Given the description of an element on the screen output the (x, y) to click on. 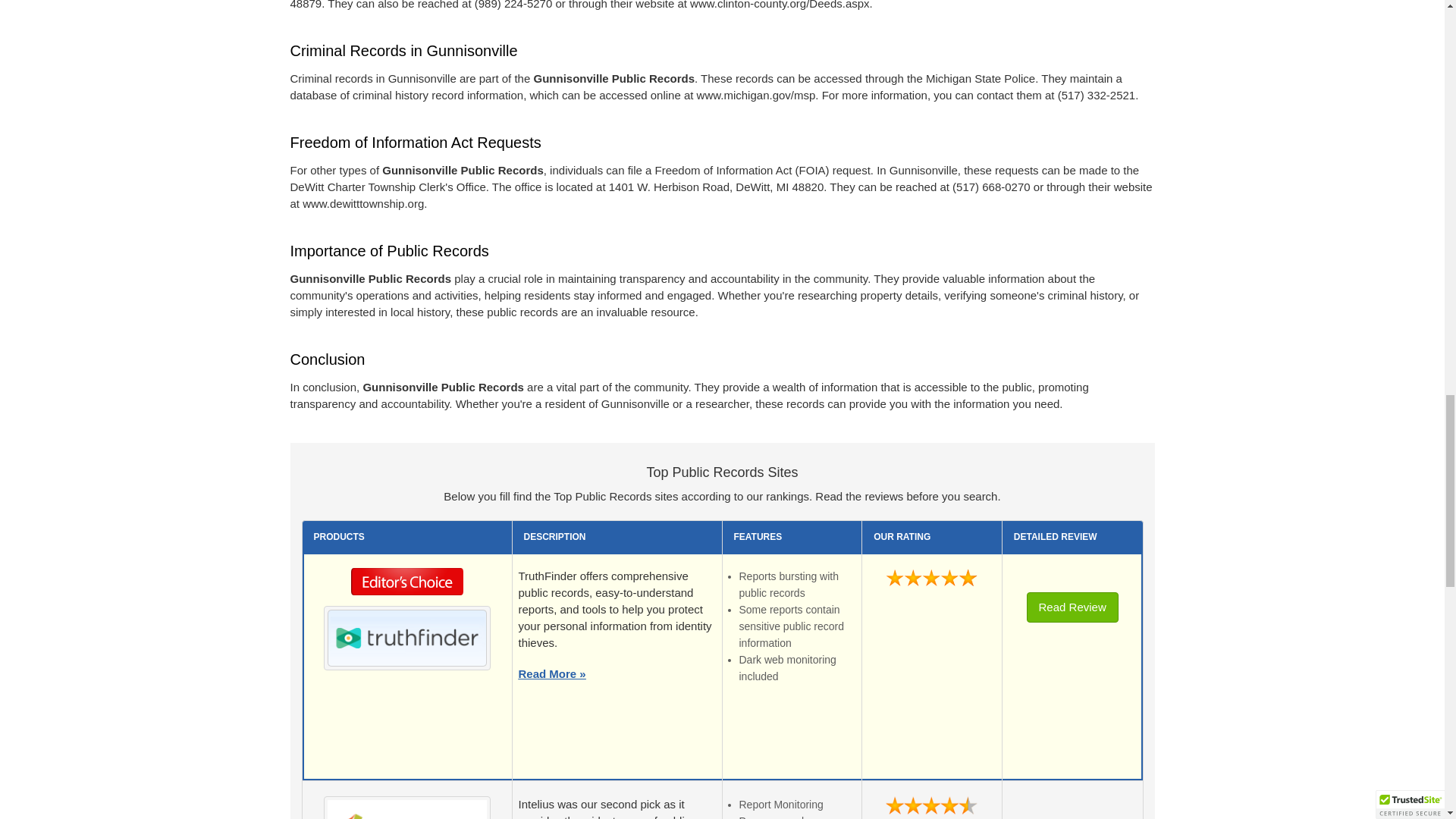
TruthFinder (406, 637)
Editors Choice (407, 585)
Intelius (406, 809)
